Given the description of an element on the screen output the (x, y) to click on. 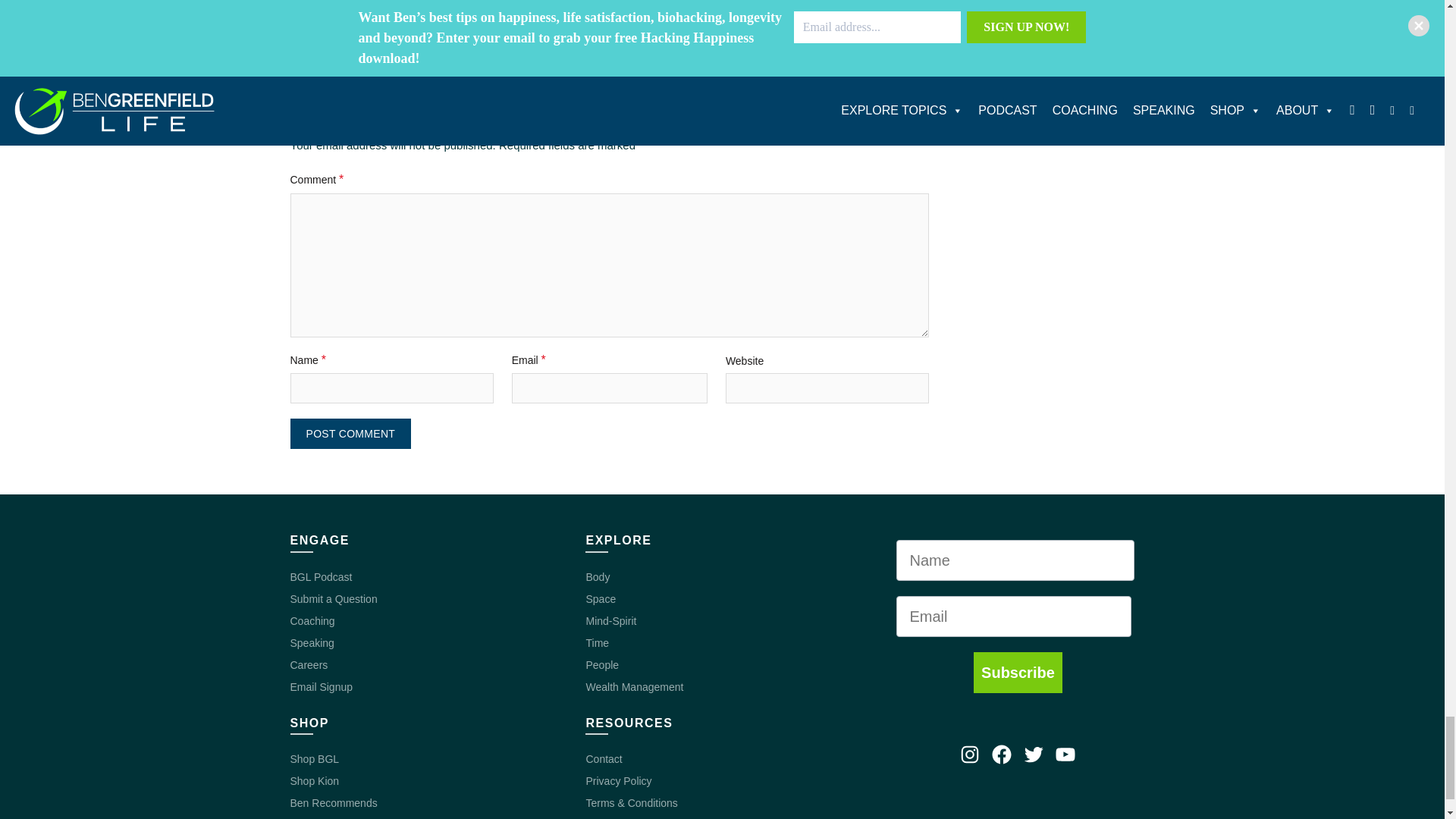
Post Comment (349, 433)
